Given the description of an element on the screen output the (x, y) to click on. 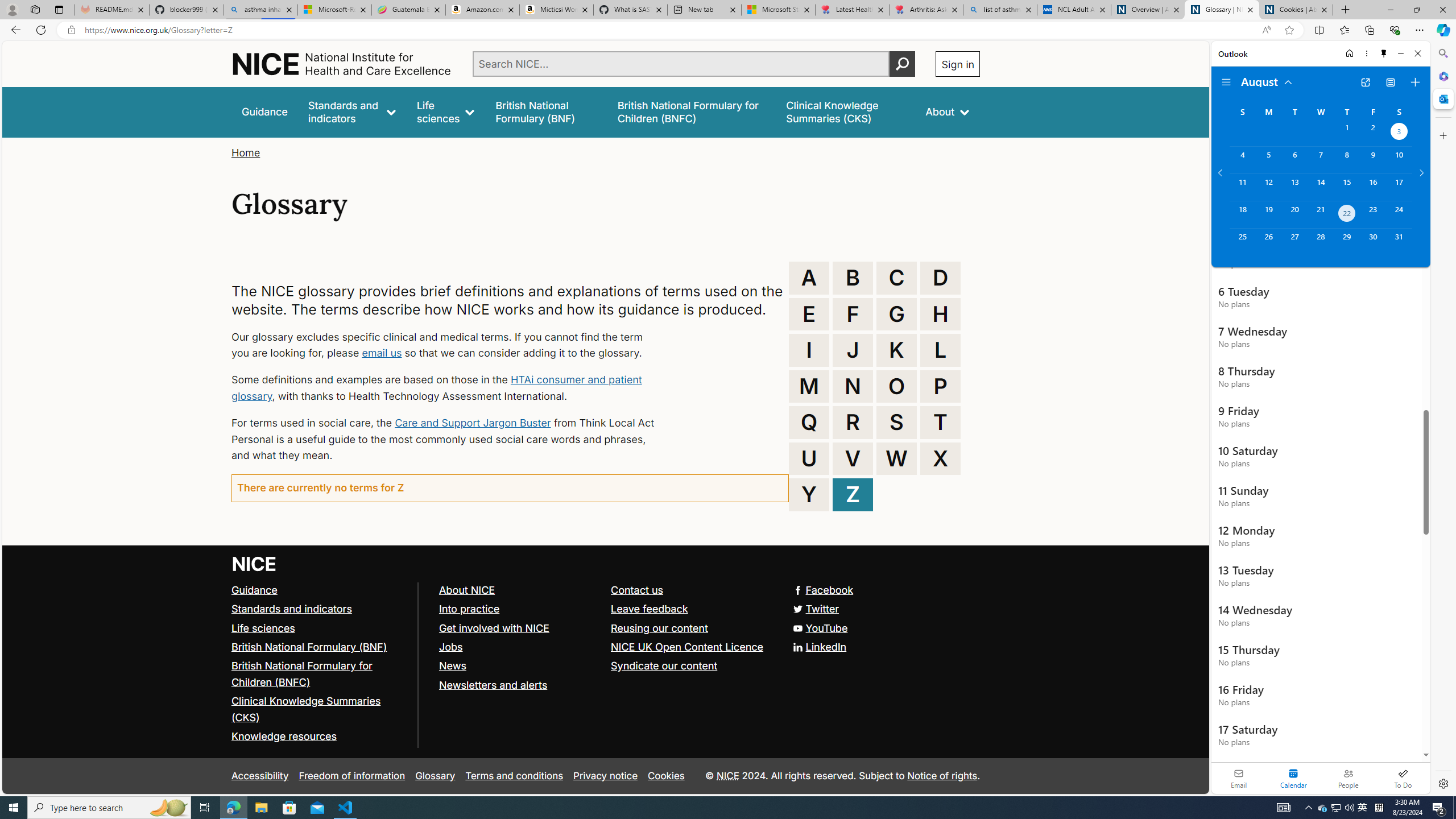
A (809, 277)
Cookies (665, 775)
K (896, 350)
HTAi consumer and patient glossary (436, 387)
Glossary (434, 775)
Accessibility (259, 775)
Thursday, August 29, 2024.  (1346, 241)
R (852, 422)
About NICE (518, 589)
Q (809, 422)
Newsletters and alerts (518, 684)
